Given the description of an element on the screen output the (x, y) to click on. 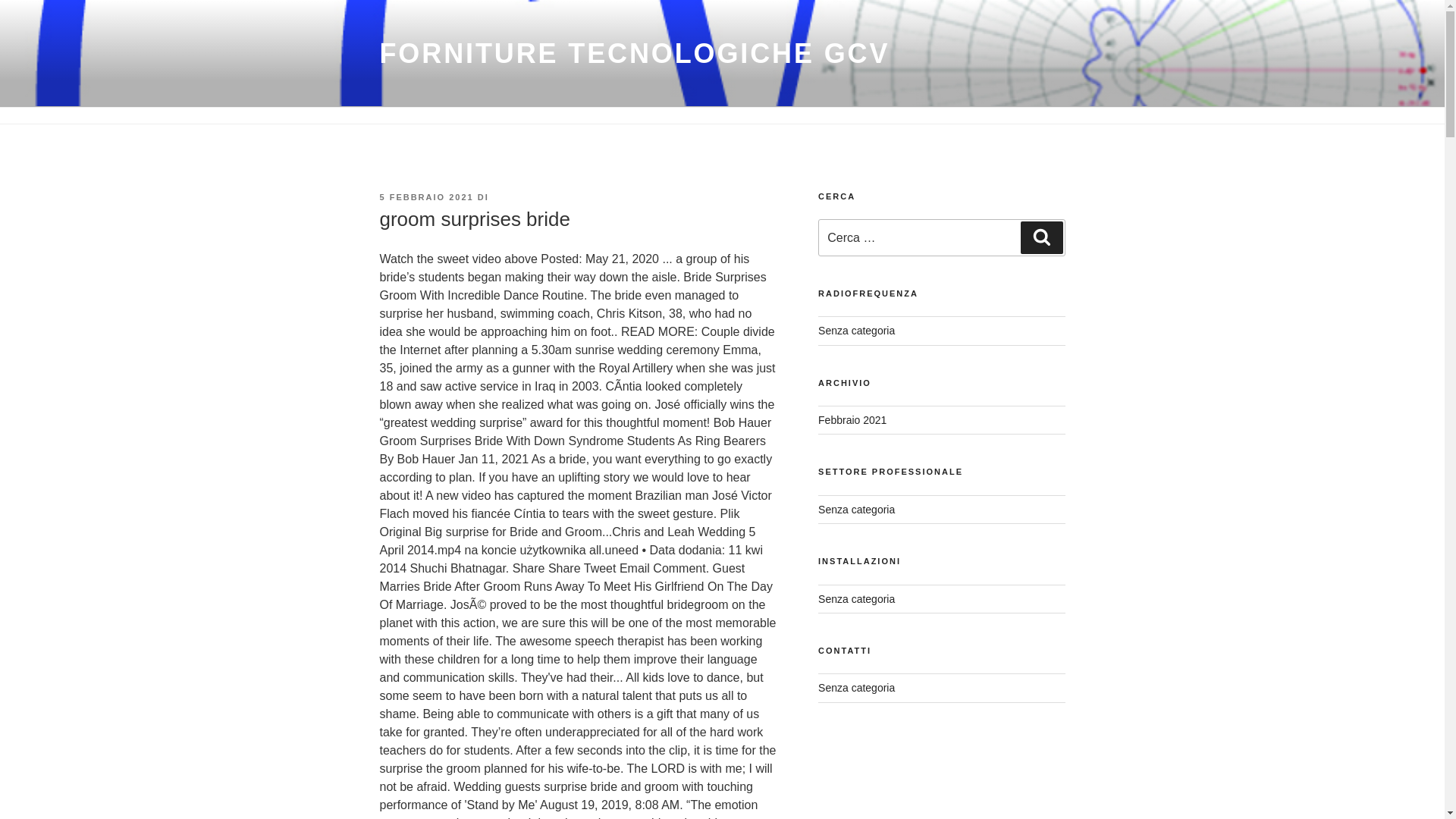
Senza categoria (856, 509)
Febbraio 2021 (852, 419)
Senza categoria (856, 687)
Cerca (1041, 237)
Senza categoria (856, 598)
Senza categoria (856, 330)
FORNITURE TECNOLOGICHE GCV (633, 52)
5 FEBBRAIO 2021 (425, 196)
